Given the description of an element on the screen output the (x, y) to click on. 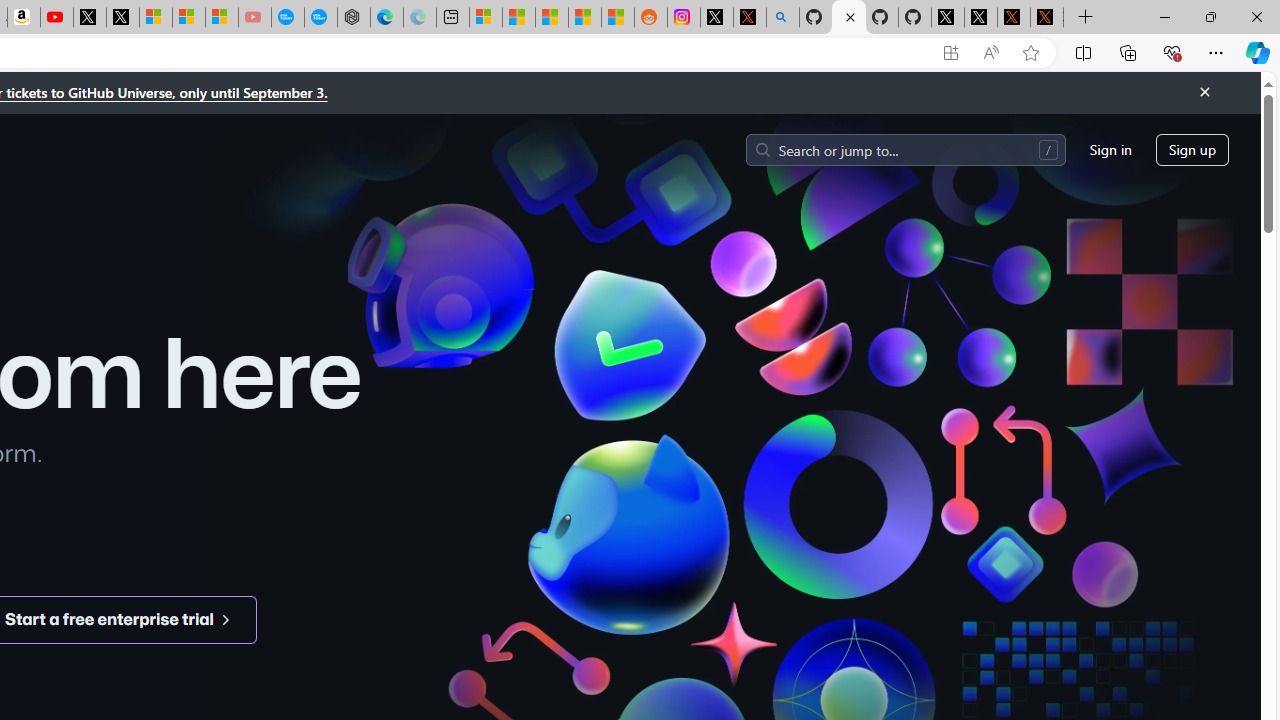
Log in to X / X (717, 17)
Sign up (1191, 149)
App available. Install GitHub (950, 53)
